Given the description of an element on the screen output the (x, y) to click on. 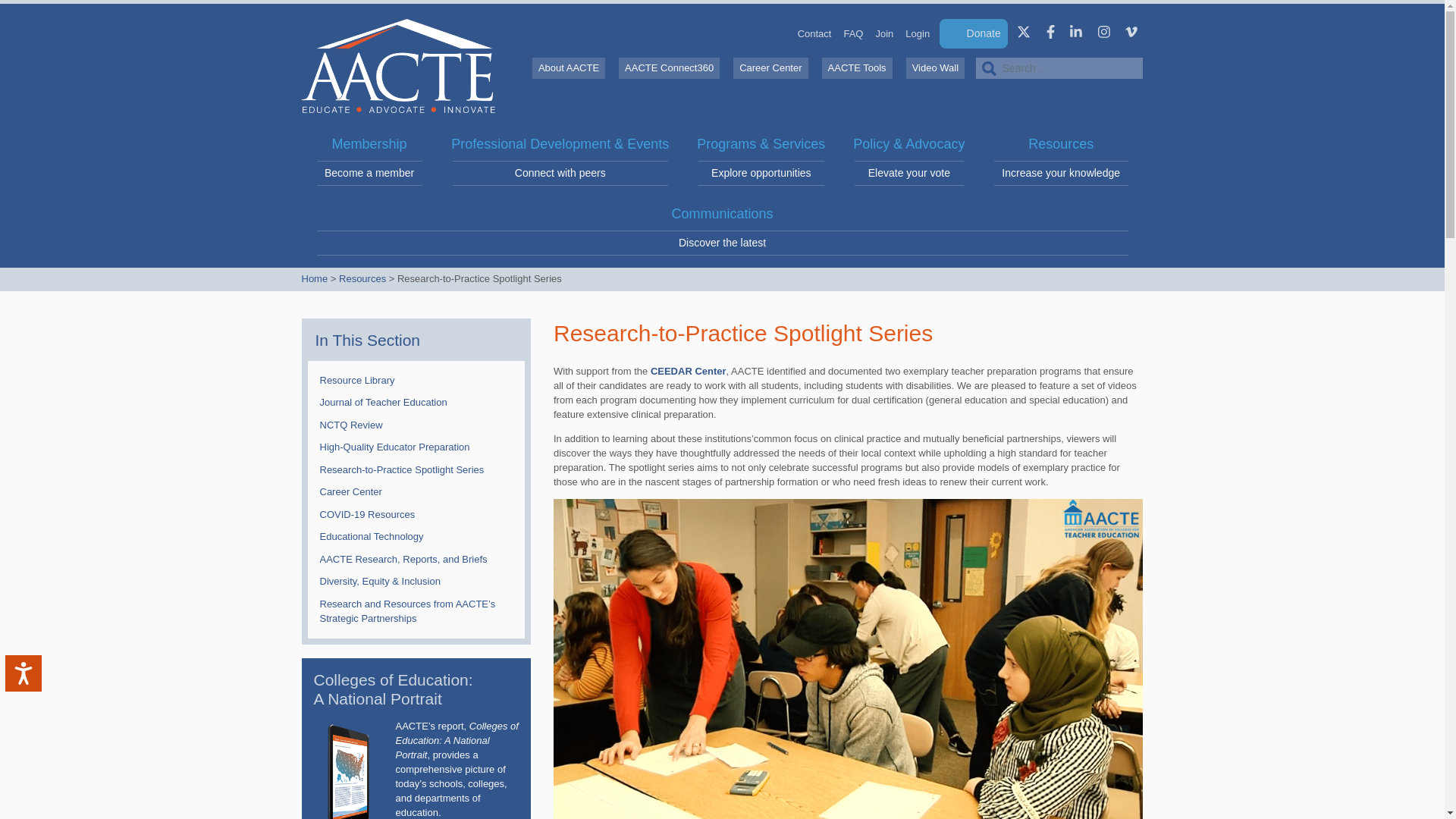
Follow us on Twitter (1023, 32)
Follow us on LinkedIn (1075, 32)
Join (884, 34)
Accessibility (369, 162)
Contact (35, 685)
AACTE Tools (815, 34)
Login (857, 67)
Follow us on Instagram (917, 34)
FAQ (1104, 32)
